Given the description of an element on the screen output the (x, y) to click on. 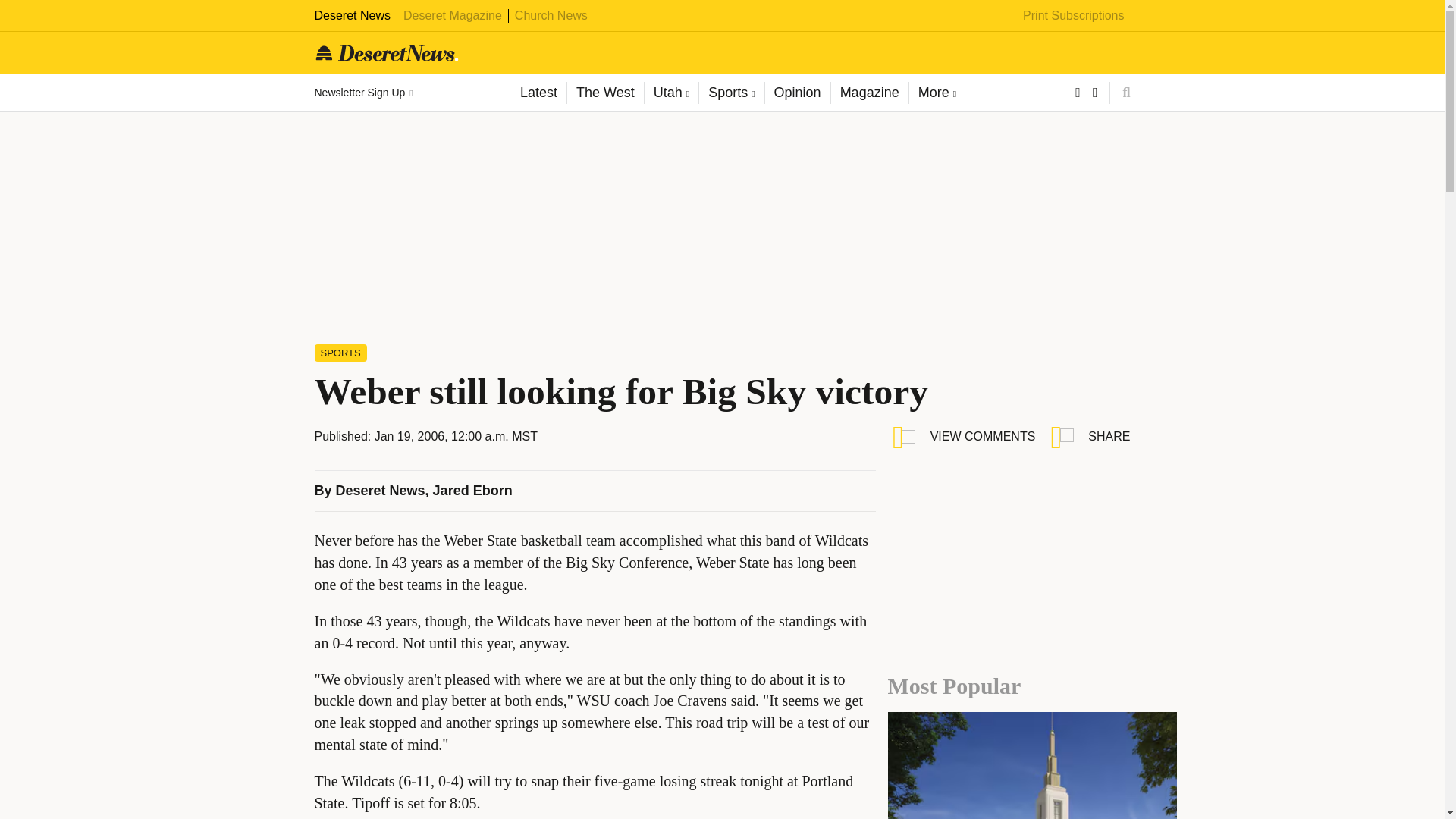
Utah (670, 92)
The West (604, 92)
Deseret News (352, 15)
Magazine (868, 92)
Sports (730, 92)
Print Subscriptions (1073, 15)
Newsletter Sign Up (363, 92)
Church News (551, 15)
Deseret Magazine (452, 15)
Deseret News (380, 490)
